Given the description of an element on the screen output the (x, y) to click on. 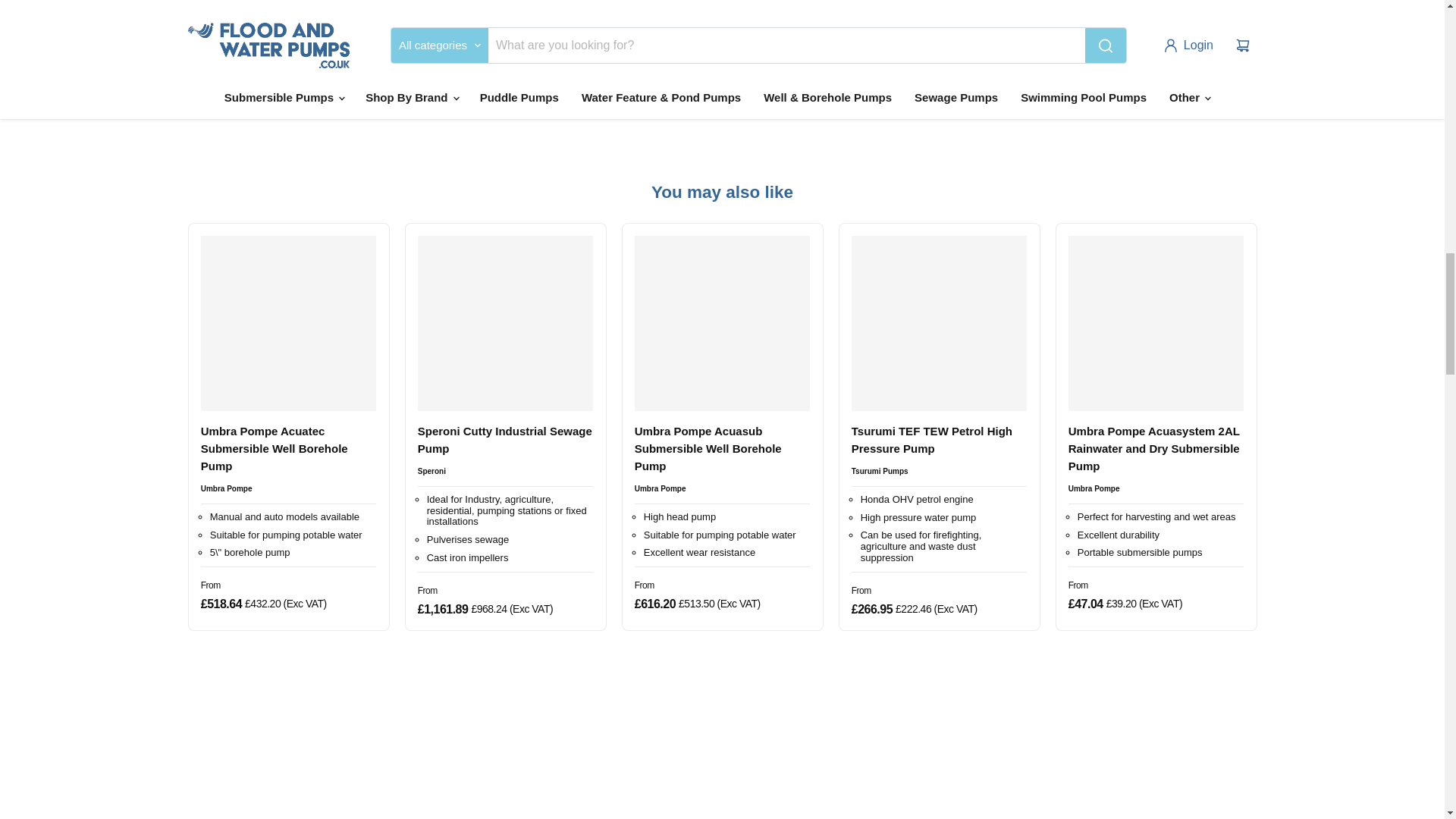
Tsurumi Pumps (879, 470)
Speroni (431, 470)
Umbra Pompe (1093, 488)
Umbra Pompe (225, 488)
Umbra Pompe (659, 488)
